Given the description of an element on the screen output the (x, y) to click on. 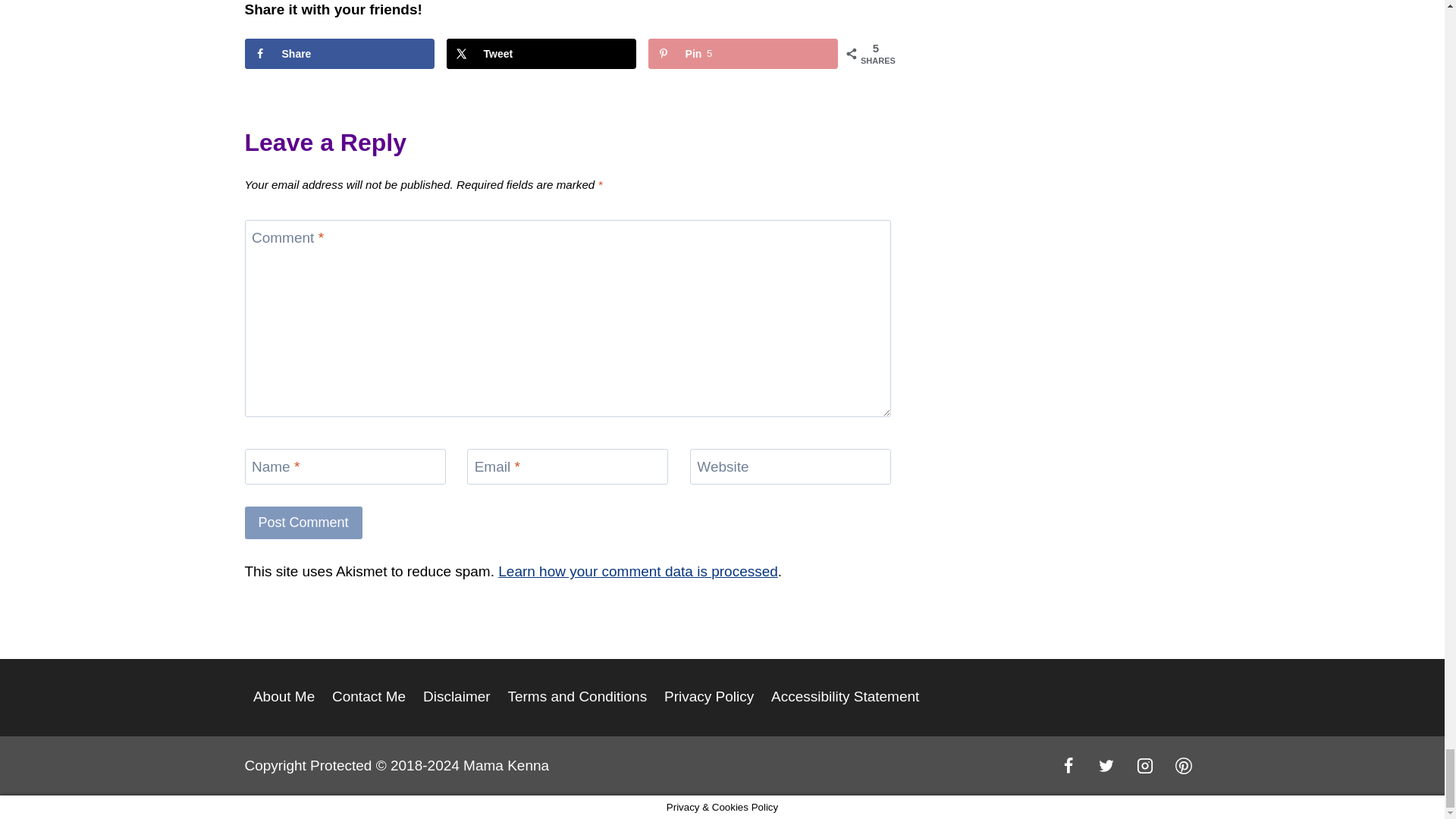
Share on Facebook (338, 53)
Share on X (541, 53)
Save to Pinterest (742, 53)
Post Comment (302, 522)
